Given the description of an element on the screen output the (x, y) to click on. 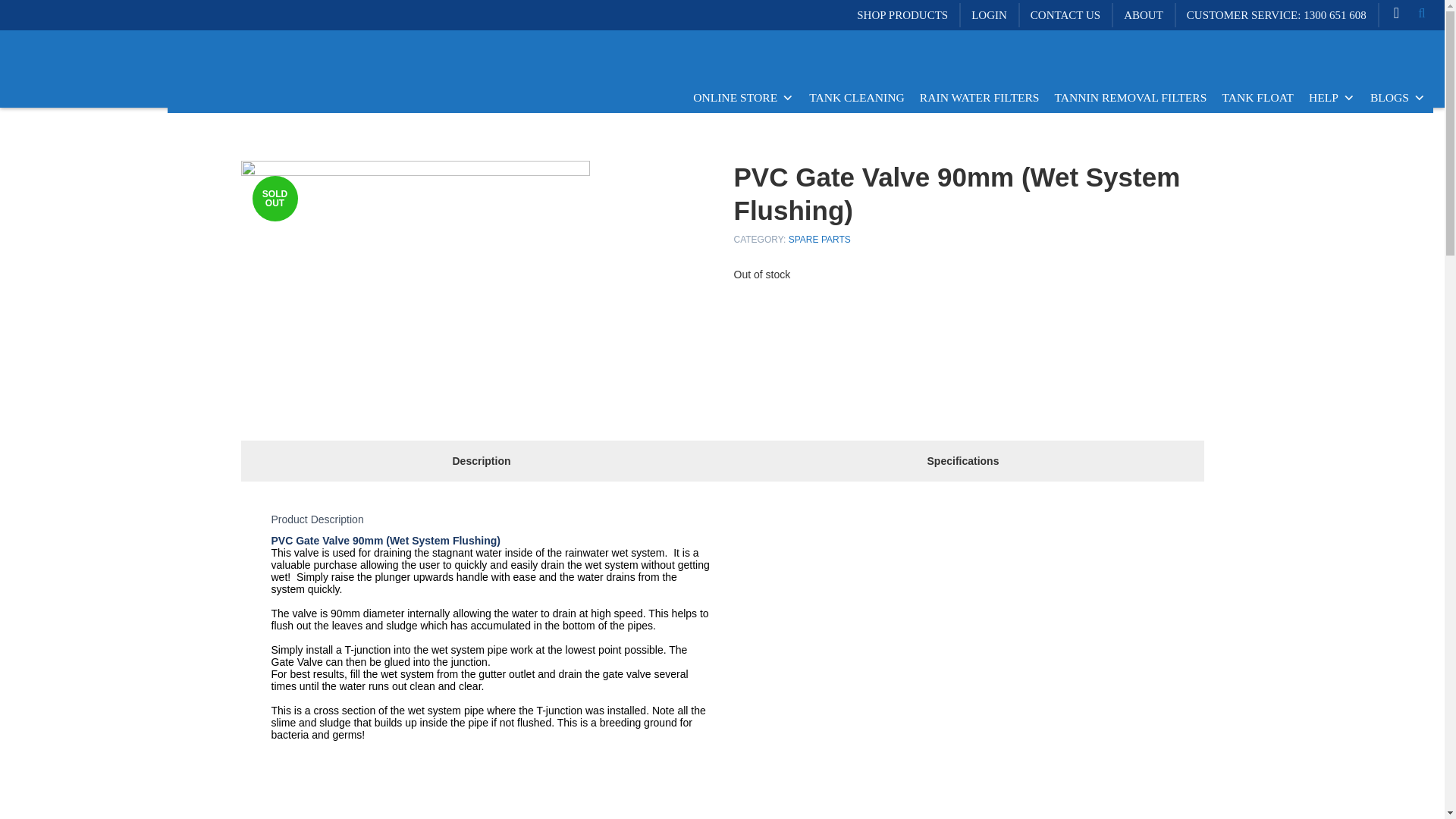
The Tank Doctor (71, 34)
ONLINE STORE (743, 97)
ABOUT (1143, 15)
CONTACT US (1065, 15)
LOGIN (988, 15)
PVC Gate VAlve 90mm72dpi (415, 276)
SHOP PRODUCTS (902, 15)
CUSTOMER SERVICE: 1300 651 608 (1275, 15)
